Given the description of an element on the screen output the (x, y) to click on. 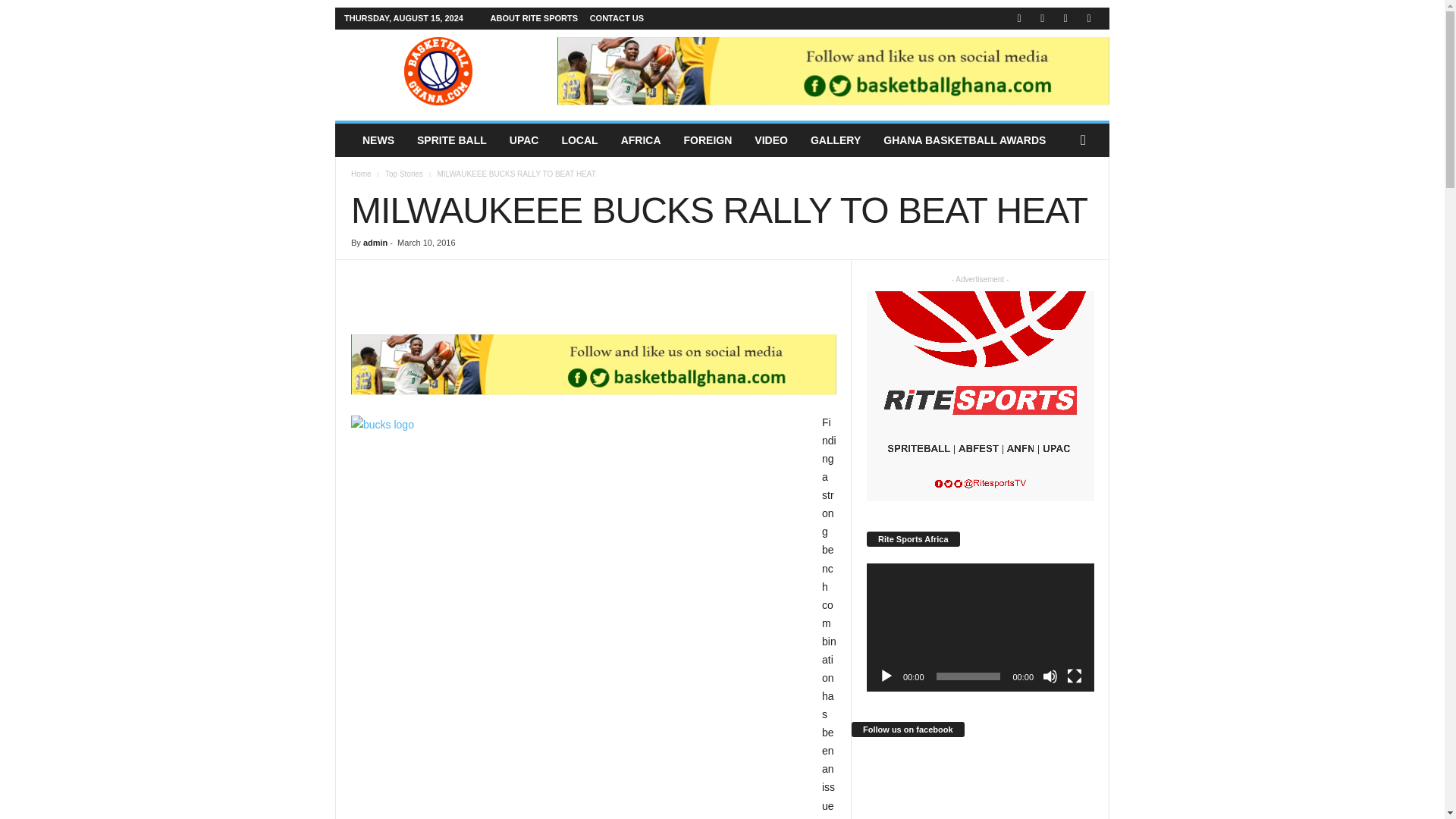
CONTACT US (616, 17)
FOREIGN (708, 140)
LOCAL (579, 140)
Basket Ball Ghana (437, 70)
View all posts in Top Stories (404, 173)
SPRITE BALL (451, 140)
AFRICA (641, 140)
ABOUT RITE SPORTS (534, 17)
NEWS (378, 140)
VIDEO (770, 140)
